Given the description of an element on the screen output the (x, y) to click on. 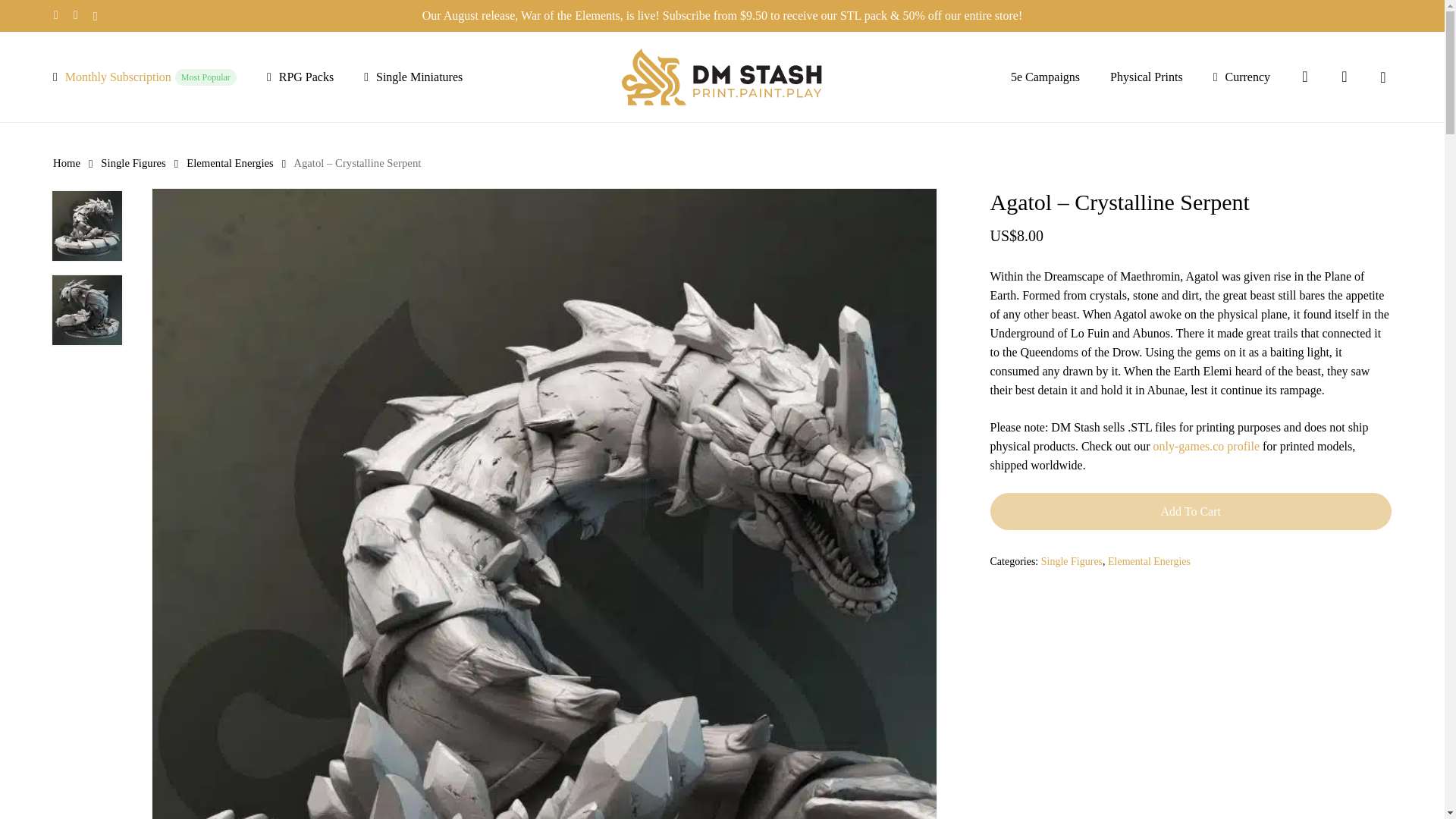
RPG Packs (143, 76)
